Given the description of an element on the screen output the (x, y) to click on. 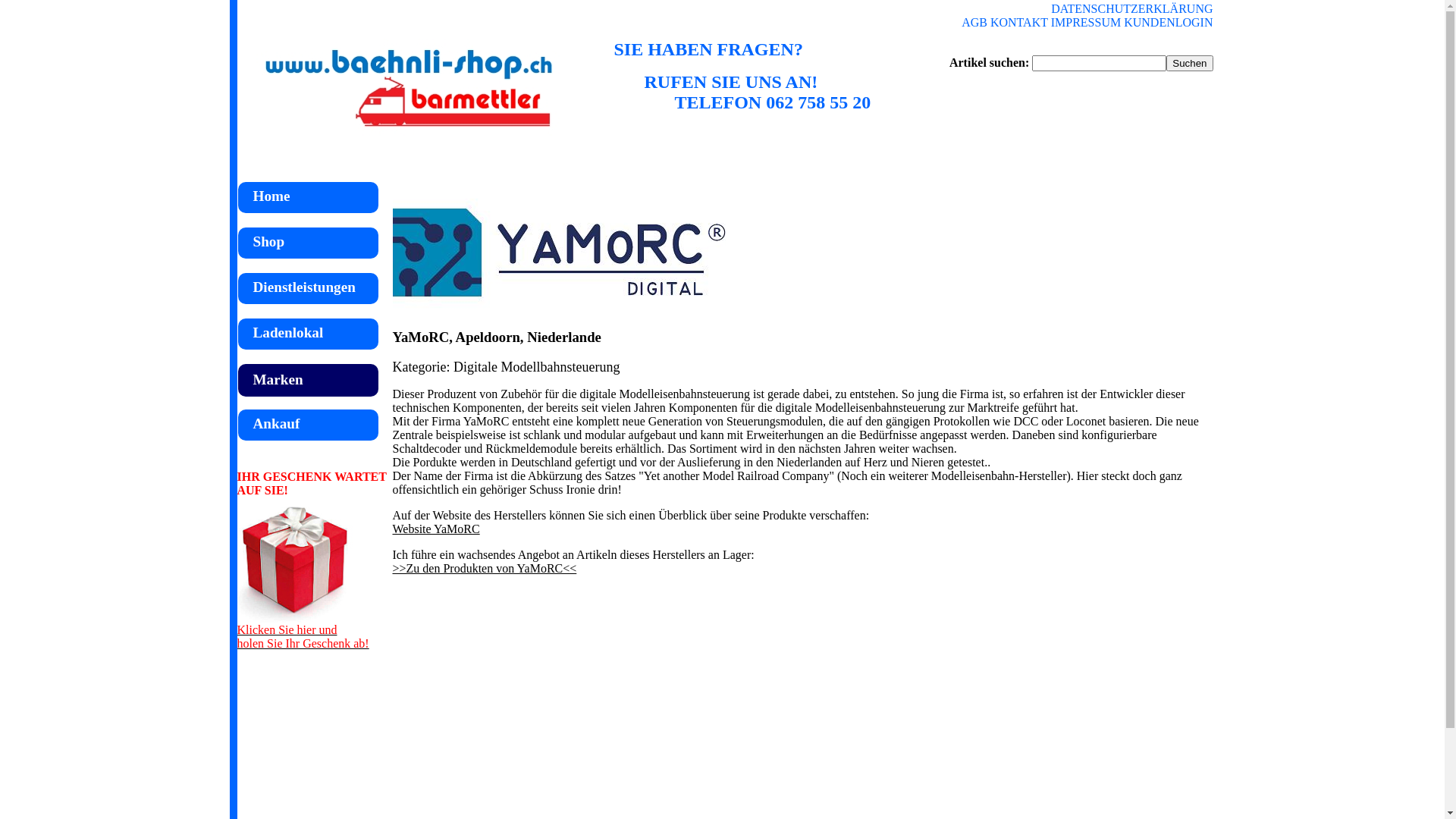
>>Zu den Produkten von YaMoRC<< Element type: text (484, 567)
KONTAKT Element type: text (1019, 21)
IMPRESSUM Element type: text (1085, 21)
Klicken Sie hier und
holen Sie Ihr Geschenk ab! Element type: text (302, 630)
AGB Element type: text (974, 21)
KUNDENLOGIN Element type: text (1167, 21)
Suchen Element type: text (1189, 63)
Website YaMoRC Element type: text (436, 528)
